Given the description of an element on the screen output the (x, y) to click on. 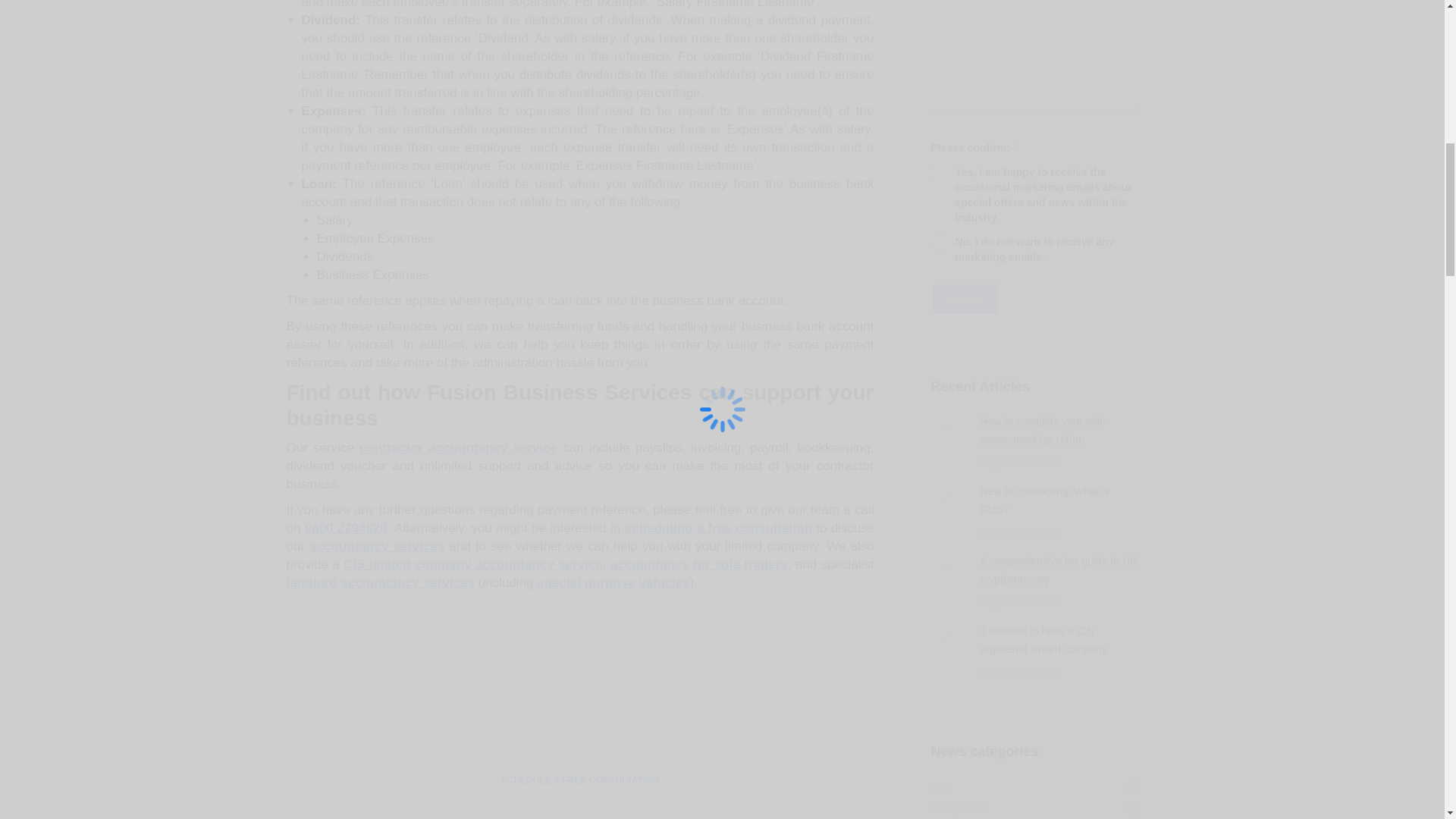
No, I do not want to receive any marketing emails. (938, 241)
Submit (965, 298)
